Given the description of an element on the screen output the (x, y) to click on. 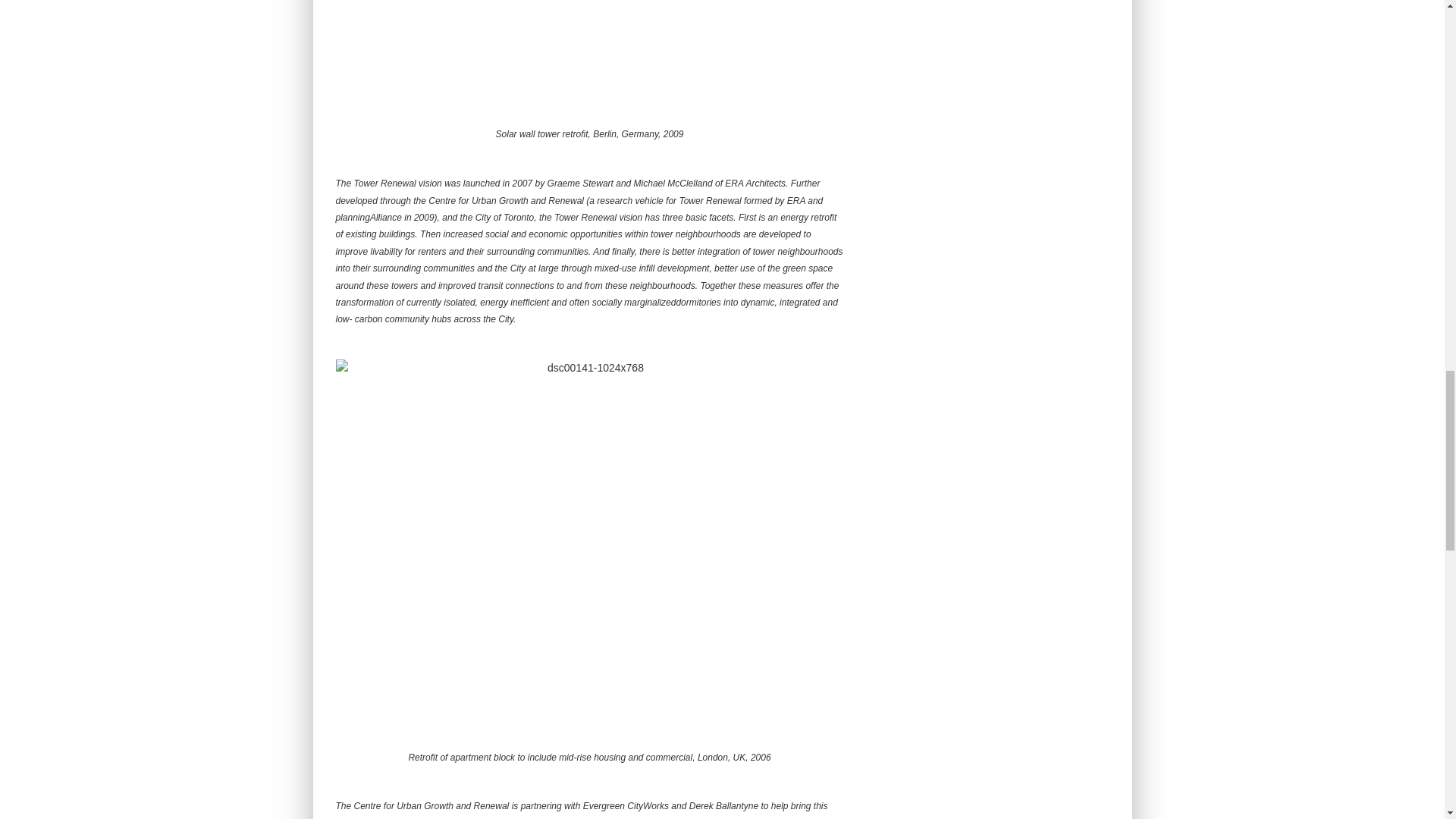
Centre for Urban Growth and Renewal (431, 805)
